Given the description of an element on the screen output the (x, y) to click on. 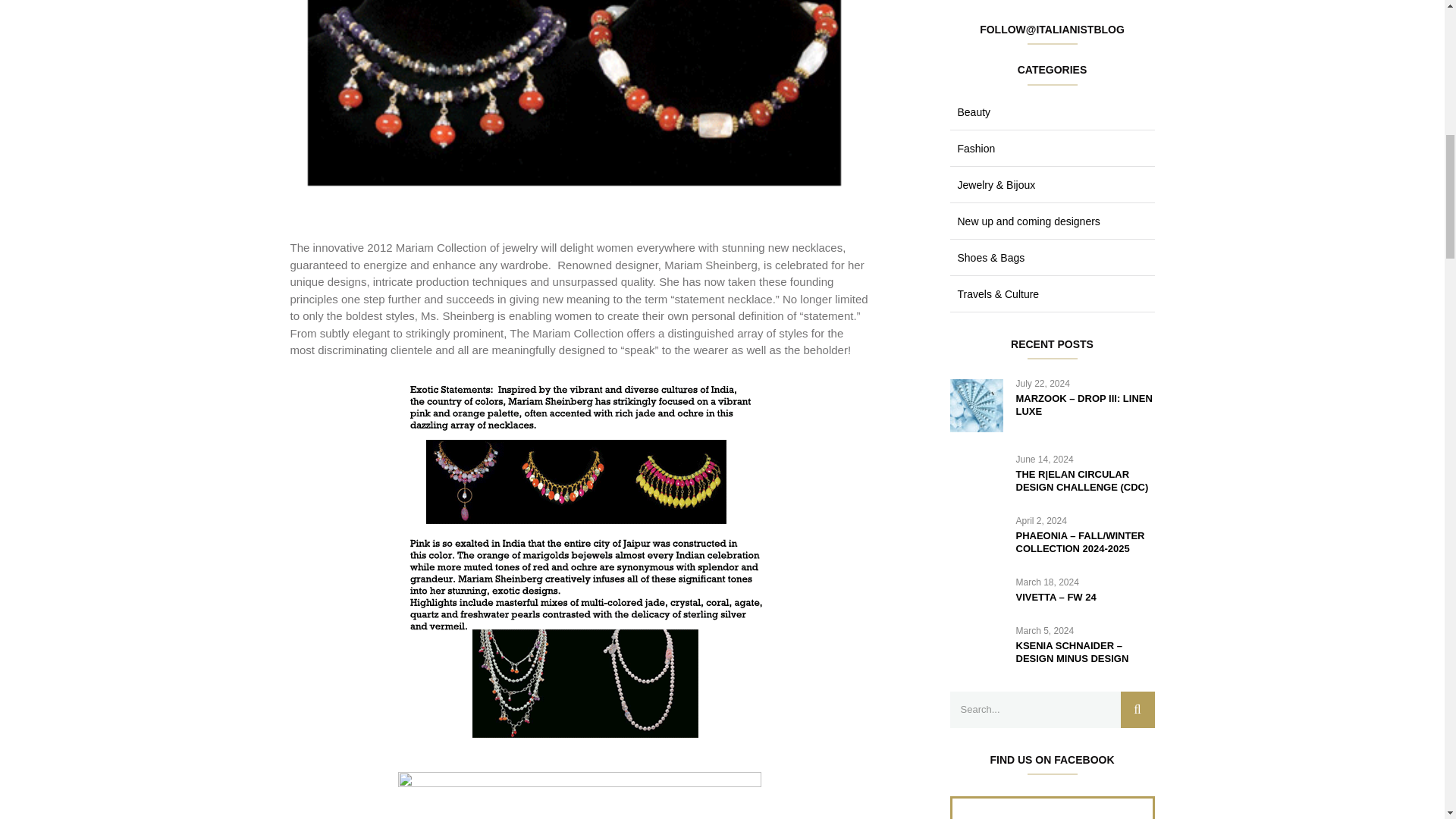
Flowing (579, 795)
Search for: (1051, 709)
